Given the description of an element on the screen output the (x, y) to click on. 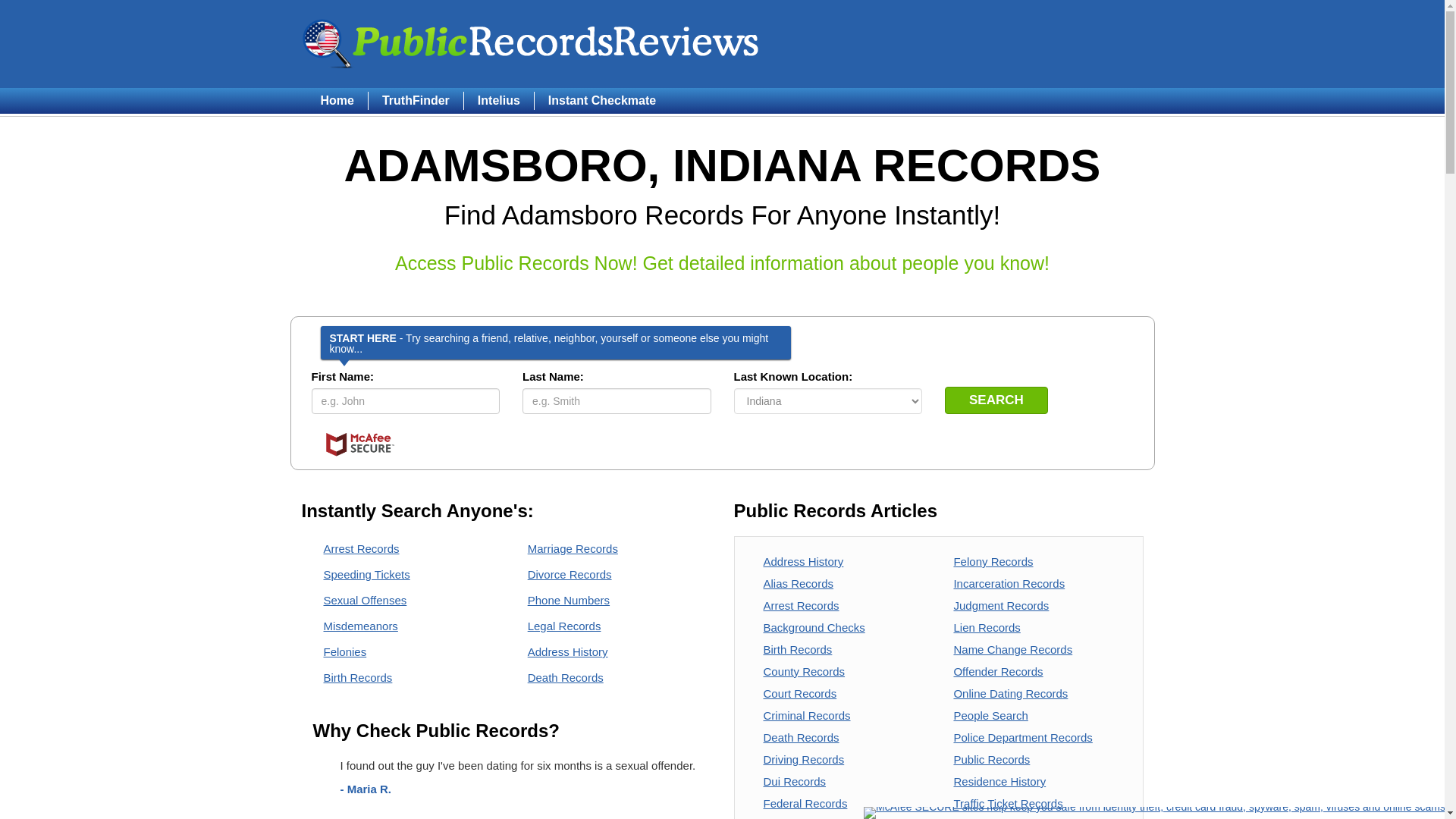
Legal Records (564, 625)
Birth Records (357, 676)
Misdemeanors (360, 625)
Police Department Records (1022, 737)
Marriage Records (572, 548)
Dui Records (793, 780)
TruthFinder (415, 100)
SEARCH (996, 400)
Address History (567, 651)
County Records (803, 671)
People Search (990, 715)
Criminal Records (806, 715)
Alias Records (797, 583)
Instant Checkmate (601, 100)
SEARCH (996, 400)
